Given the description of an element on the screen output the (x, y) to click on. 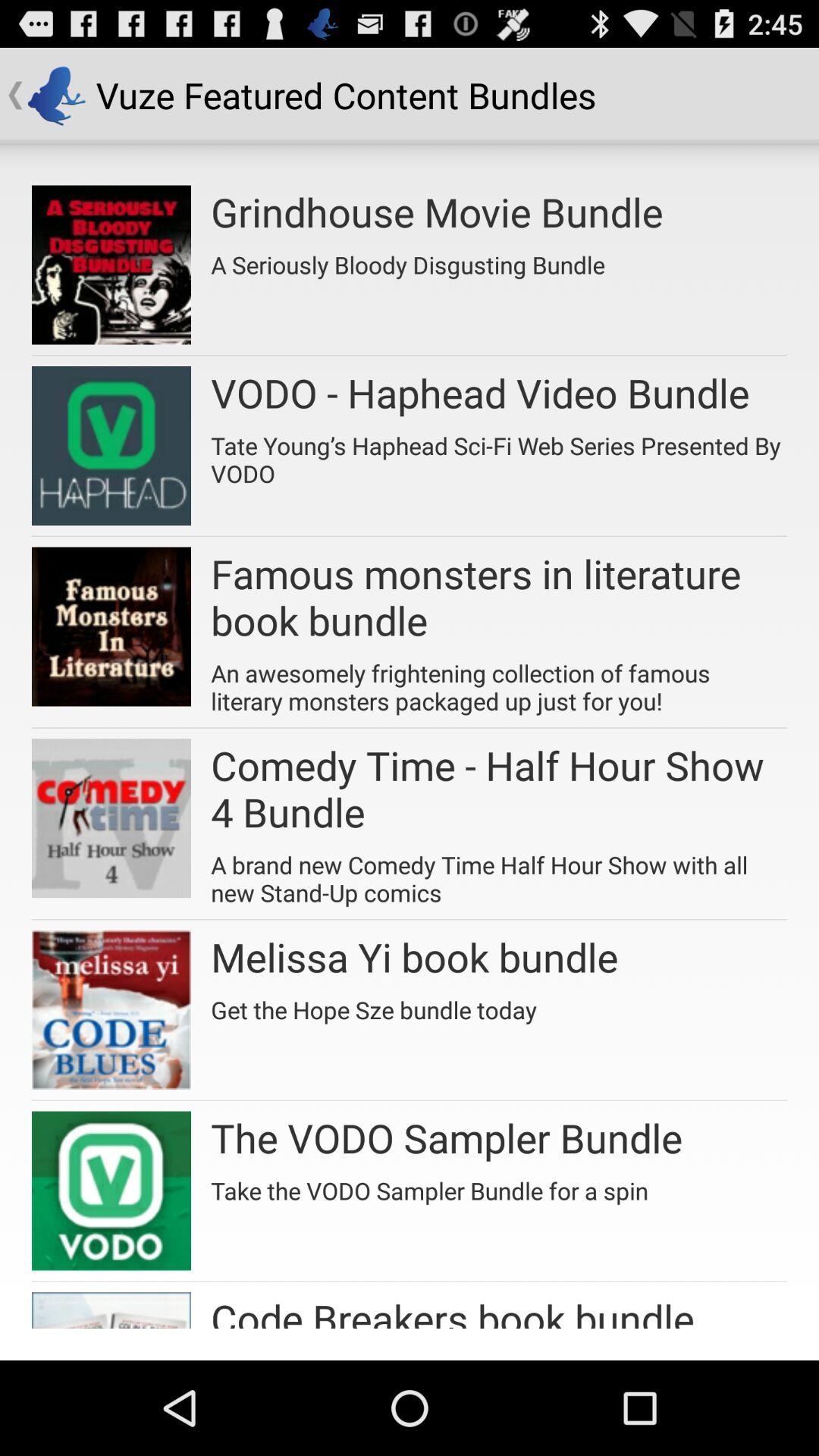
select icon below comedy time half item (499, 873)
